Given the description of an element on the screen output the (x, y) to click on. 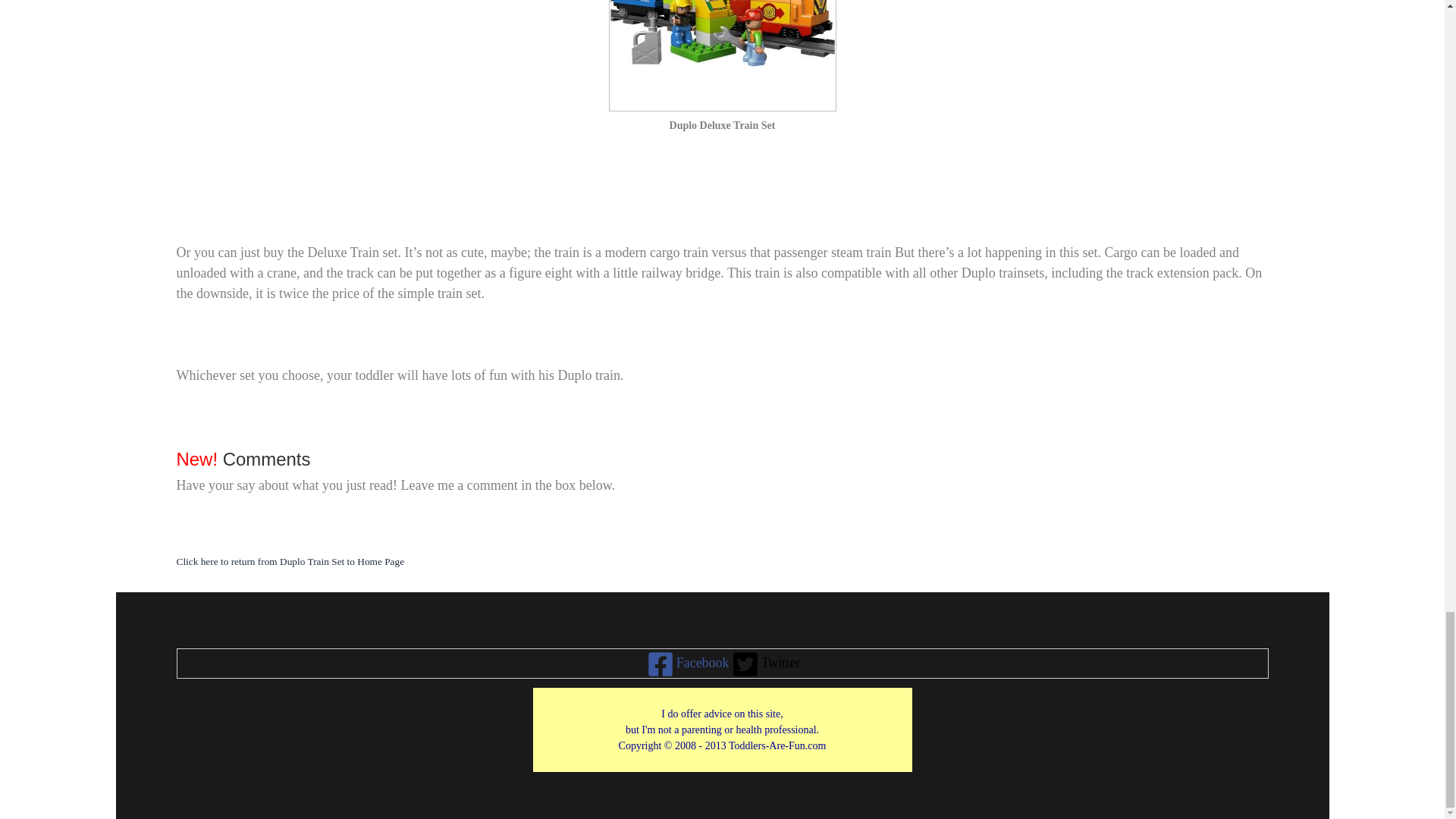
Twitter (764, 663)
work at home (722, 729)
Facebook (687, 663)
Click here to return from Duplo Train Set to Home Page (290, 560)
